Given the description of an element on the screen output the (x, y) to click on. 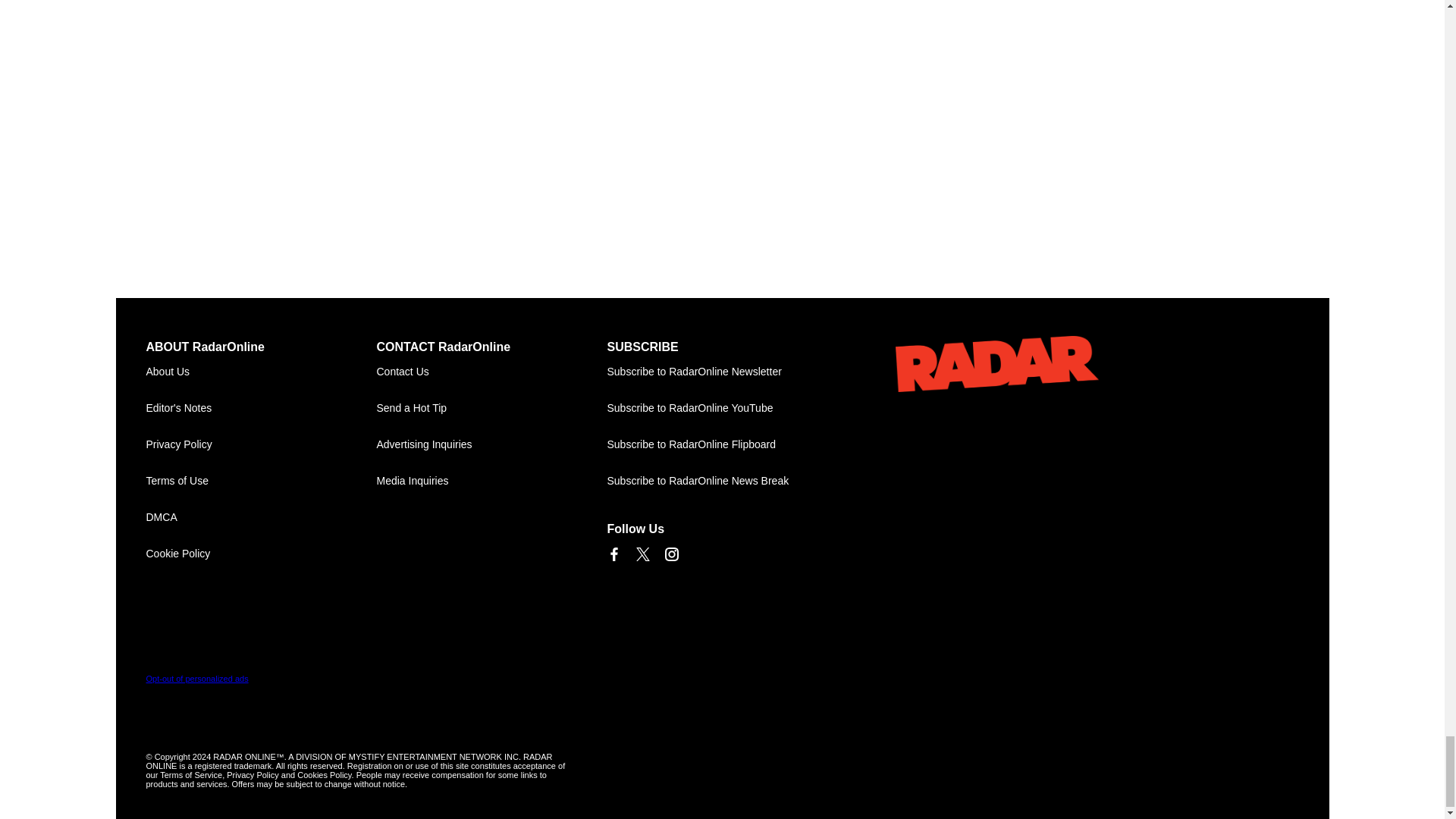
Terms of Use (260, 481)
Link to Facebook (613, 554)
Link to Instagram (670, 554)
Advertising Inquiries (491, 444)
Send a Hot Tip (491, 408)
Contact Us (491, 371)
About Us (260, 371)
Media Inquiries (491, 481)
Editor's Notes (260, 408)
Link to X (641, 554)
